Given the description of an element on the screen output the (x, y) to click on. 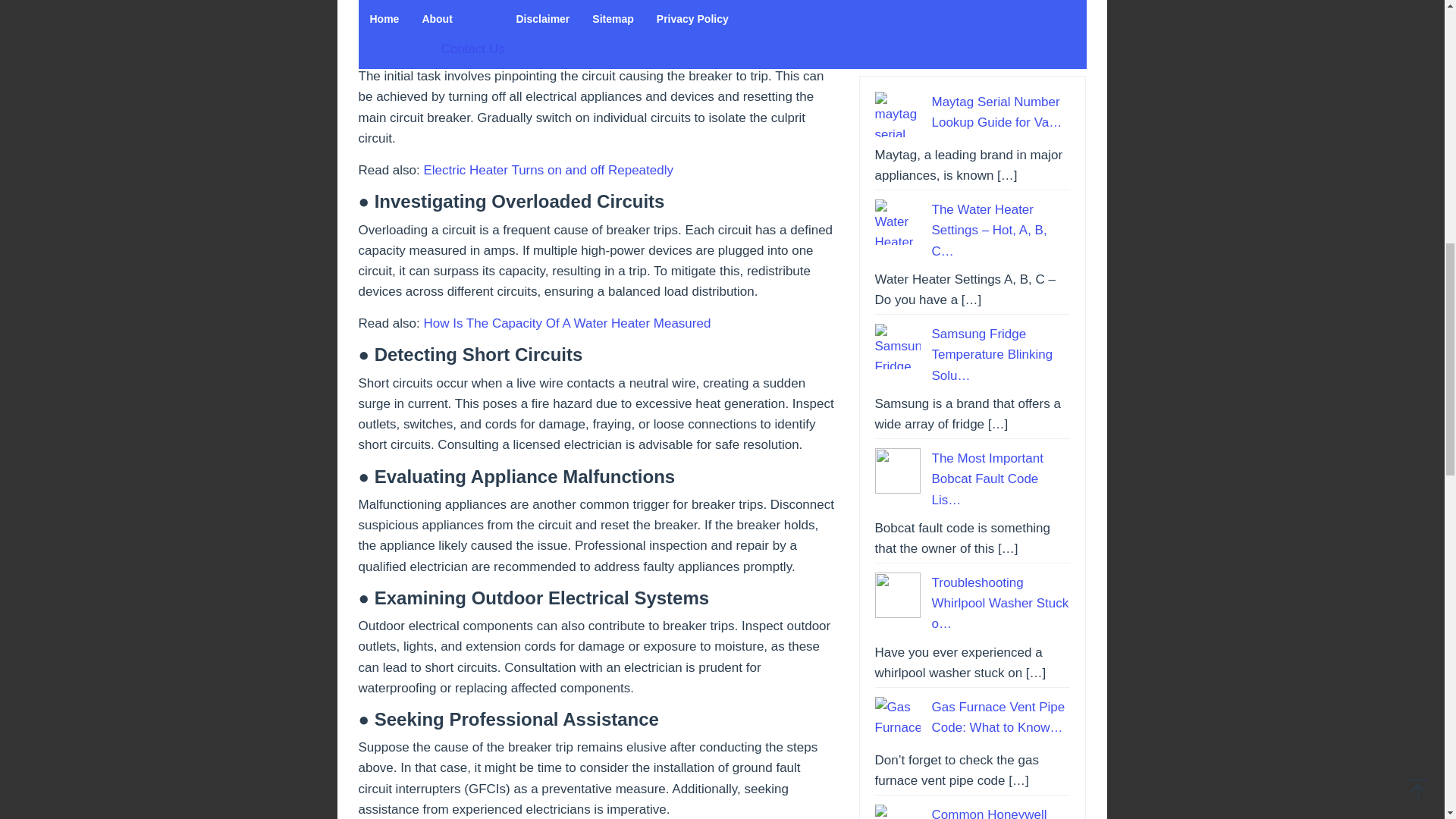
How Is The Capacity Of A Water Heater Measured (566, 323)
Electric Heater Turns on and off Repeatedly (547, 169)
Electric Heater Turns on and off Repeatedly (547, 169)
How Is The Capacity Of A Water Heater Measured (566, 323)
